Given the description of an element on the screen output the (x, y) to click on. 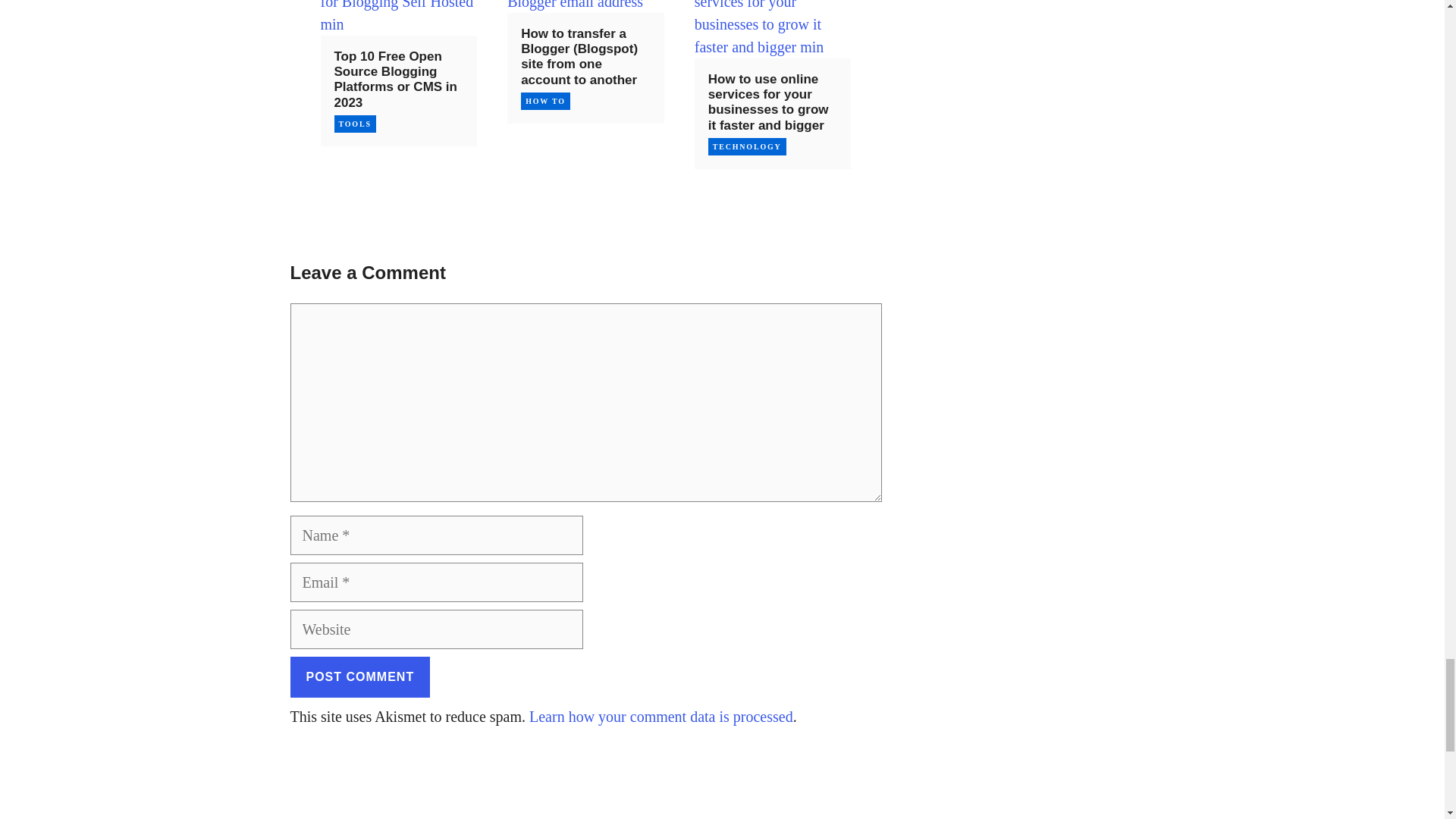
Post Comment (359, 676)
